Given the description of an element on the screen output the (x, y) to click on. 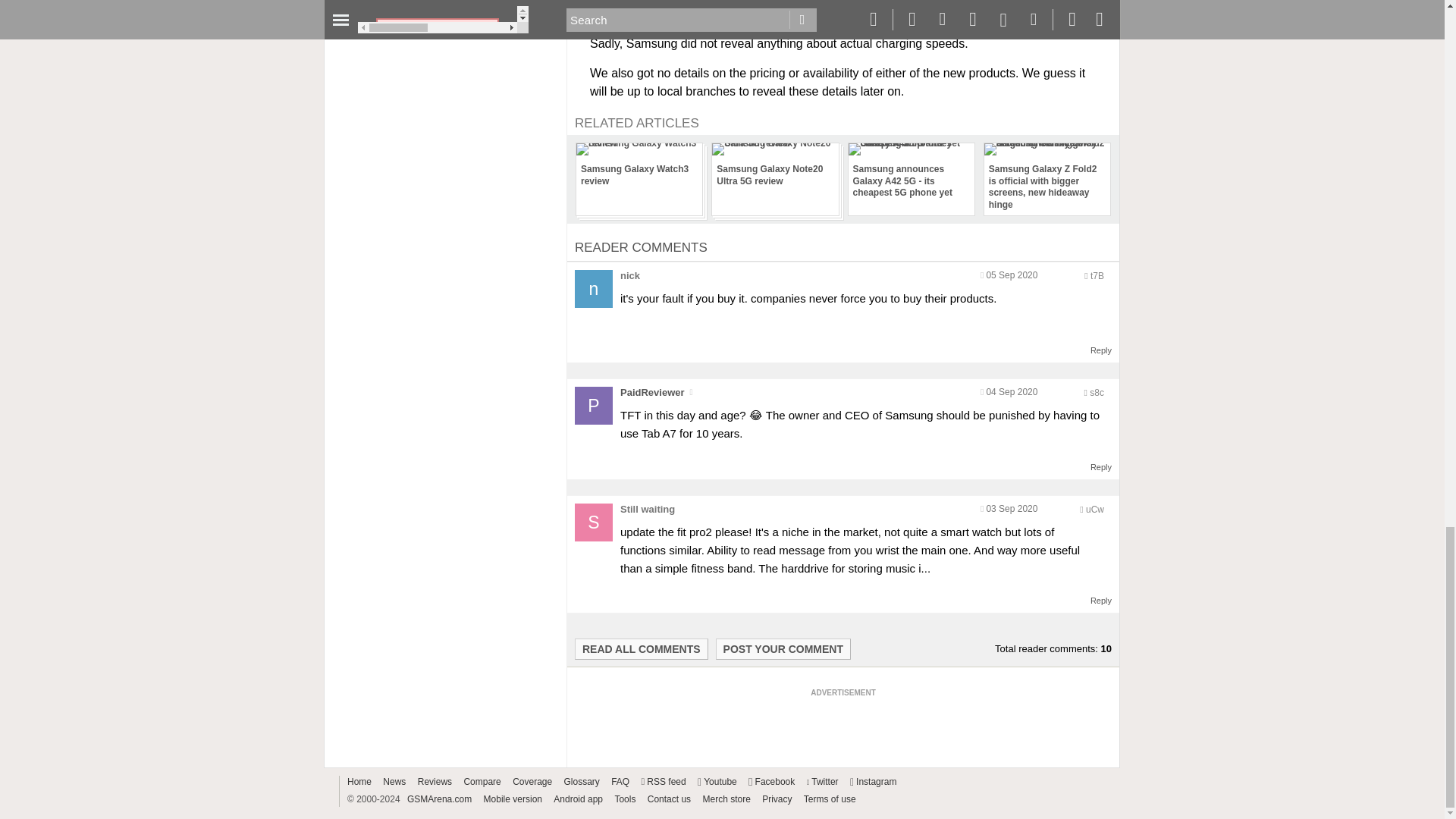
Encoded anonymized location (1096, 276)
Reply to this post (1101, 349)
Encoded anonymized location (1096, 392)
Reply to this post (1101, 600)
Reply to this post (1101, 466)
Encoded anonymized location (1094, 509)
